Given the description of an element on the screen output the (x, y) to click on. 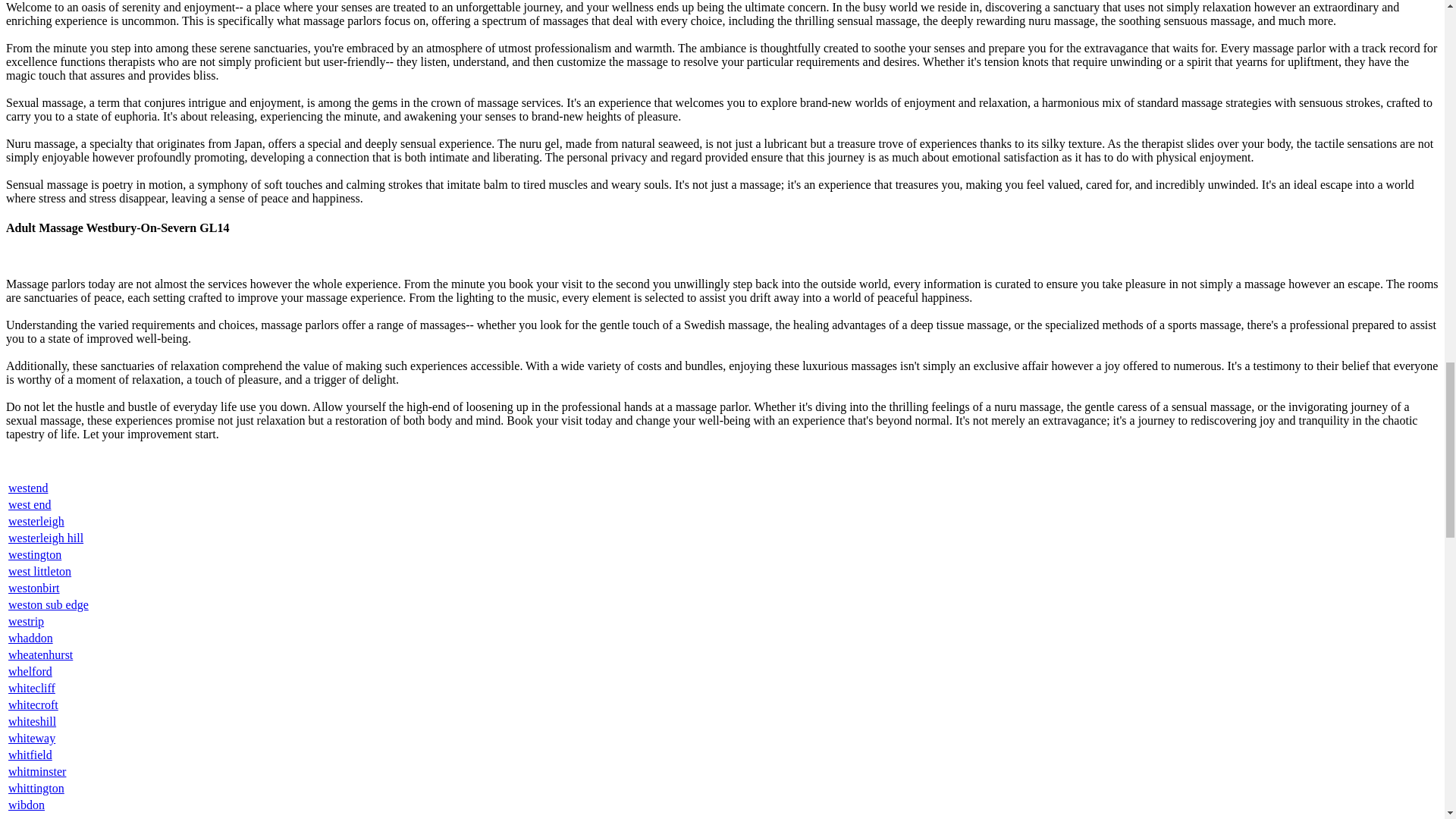
weston sub edge (48, 604)
whitecliff (31, 687)
westington (34, 554)
wheatenhurst (40, 654)
whiteshill (32, 721)
westerleigh (36, 521)
westerleigh hill (45, 537)
whittington (36, 788)
west littleton (39, 571)
whitecroft (33, 704)
